Given the description of an element on the screen output the (x, y) to click on. 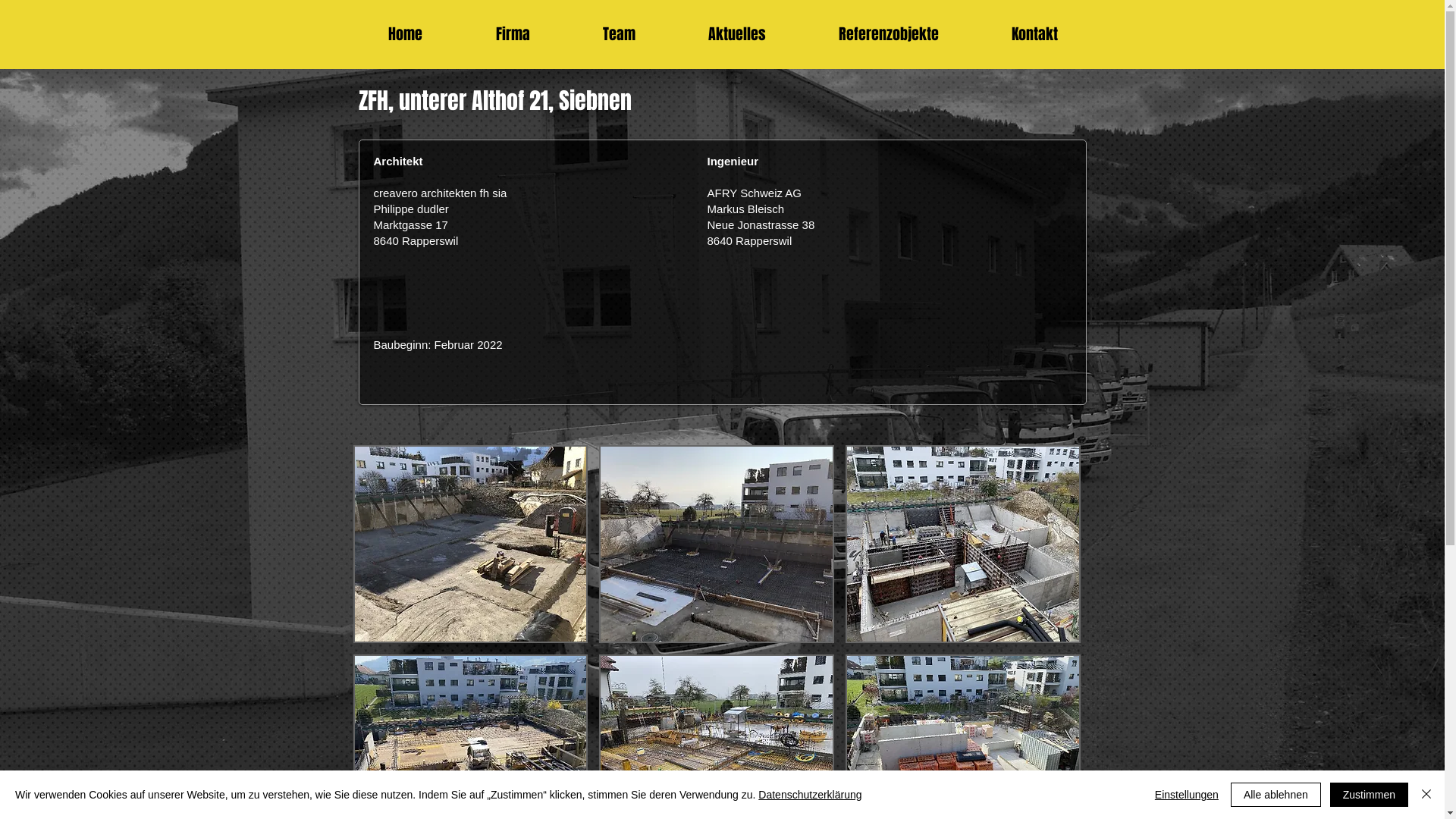
Kontakt Element type: text (1034, 34)
Referenzobjekte Element type: text (888, 34)
Firma Element type: text (512, 34)
Zustimmen Element type: text (1369, 794)
Alle ablehnen Element type: text (1275, 794)
Aktuelles Element type: text (736, 34)
Team Element type: text (618, 34)
Home Element type: text (405, 34)
